Given the description of an element on the screen output the (x, y) to click on. 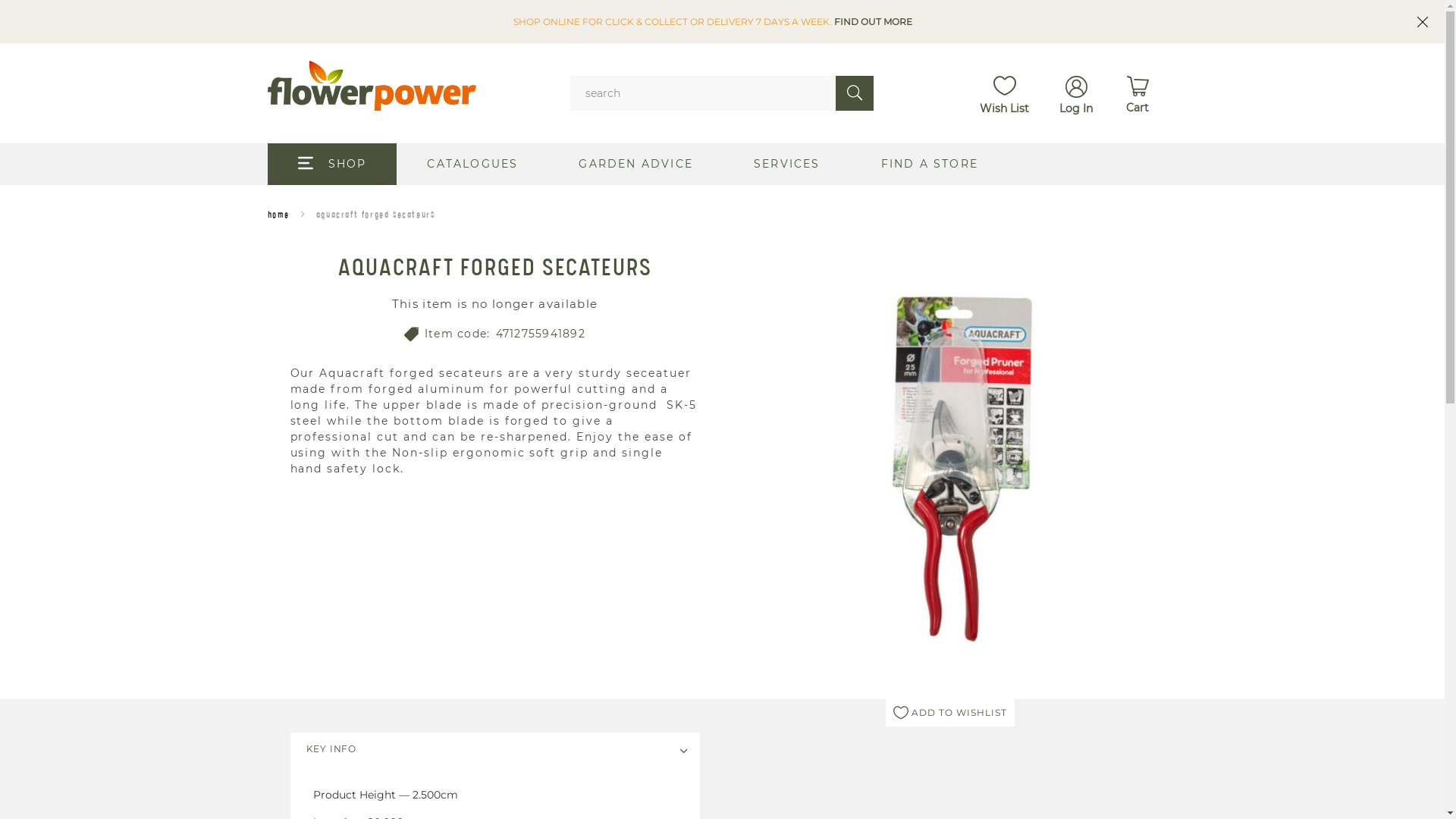
ADD TO WISHLIST Element type: text (949, 712)
FIND A STORE Element type: text (929, 164)
GARDEN ADVICE Element type: text (635, 164)
CATALOGUES Element type: text (472, 164)
Log In Element type: text (1076, 93)
SHOP Element type: text (331, 164)
SERVICES Element type: text (786, 164)
home Element type: text (277, 214)
Search Element type: hover (854, 92)
KEY INFO Element type: text (494, 748)
FIND OUT MORE Element type: text (873, 21)
Wish List Element type: text (1004, 93)
